Given the description of an element on the screen output the (x, y) to click on. 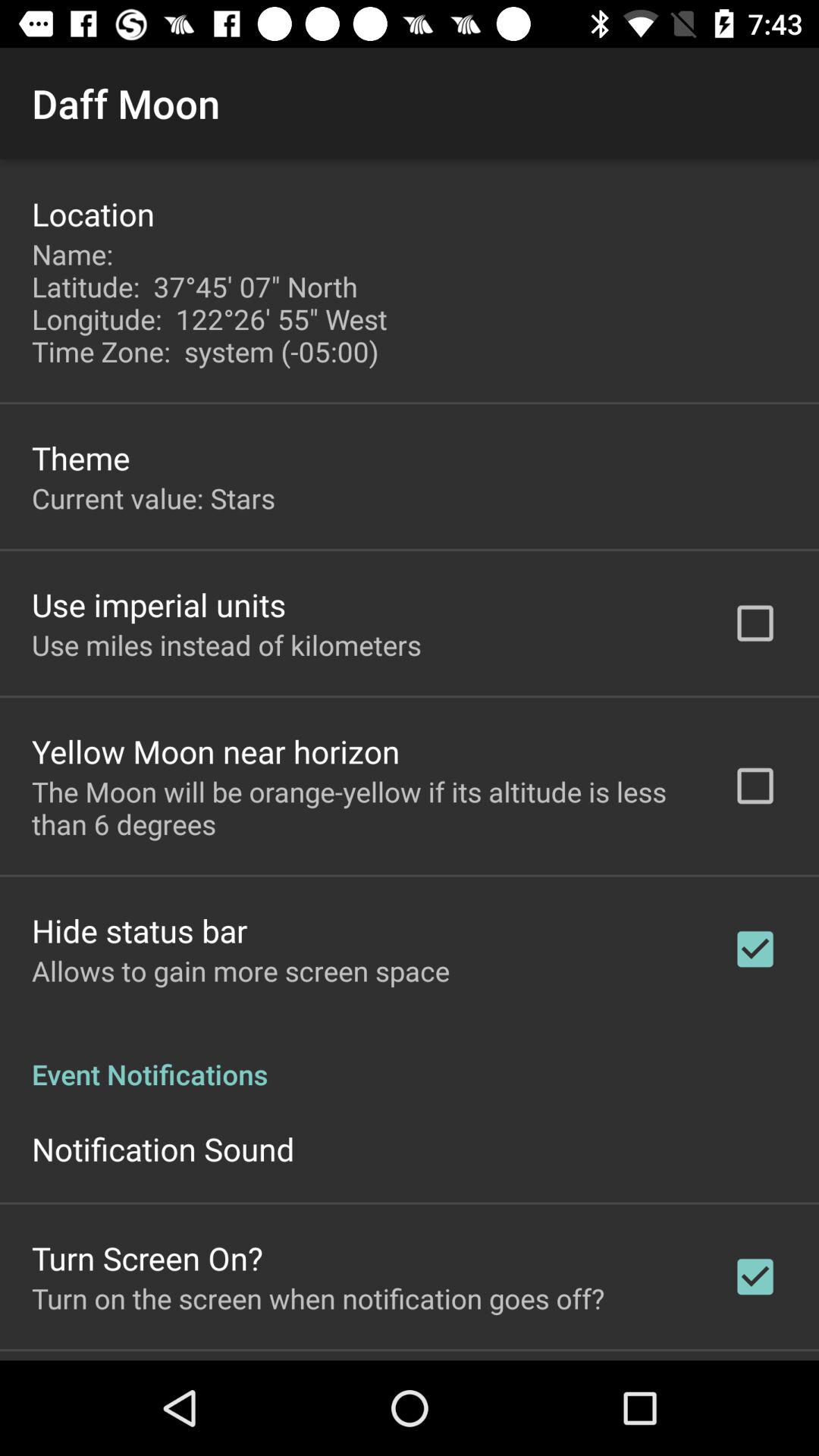
turn off icon below yellow moon near item (361, 807)
